Given the description of an element on the screen output the (x, y) to click on. 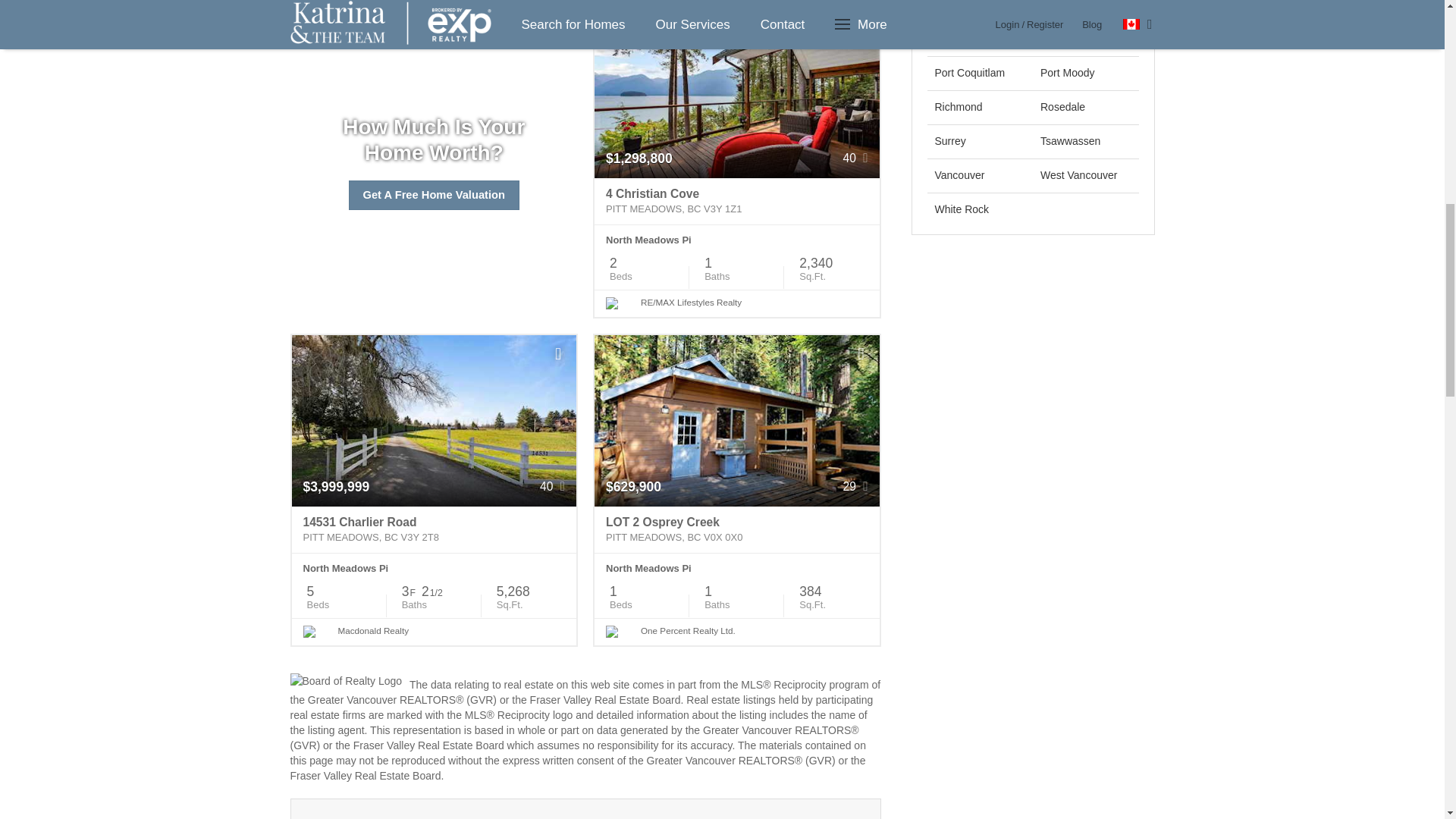
14531 Charlier Road Pitt Meadows,  BC V3Y 2T8 (433, 529)
4 Christian Cove Pitt Meadows,  BC V3Y 1Z1 (736, 201)
LOT 2 Osprey Creek Pitt Meadows,  BC V0X 0X0 (736, 529)
